Given the description of an element on the screen output the (x, y) to click on. 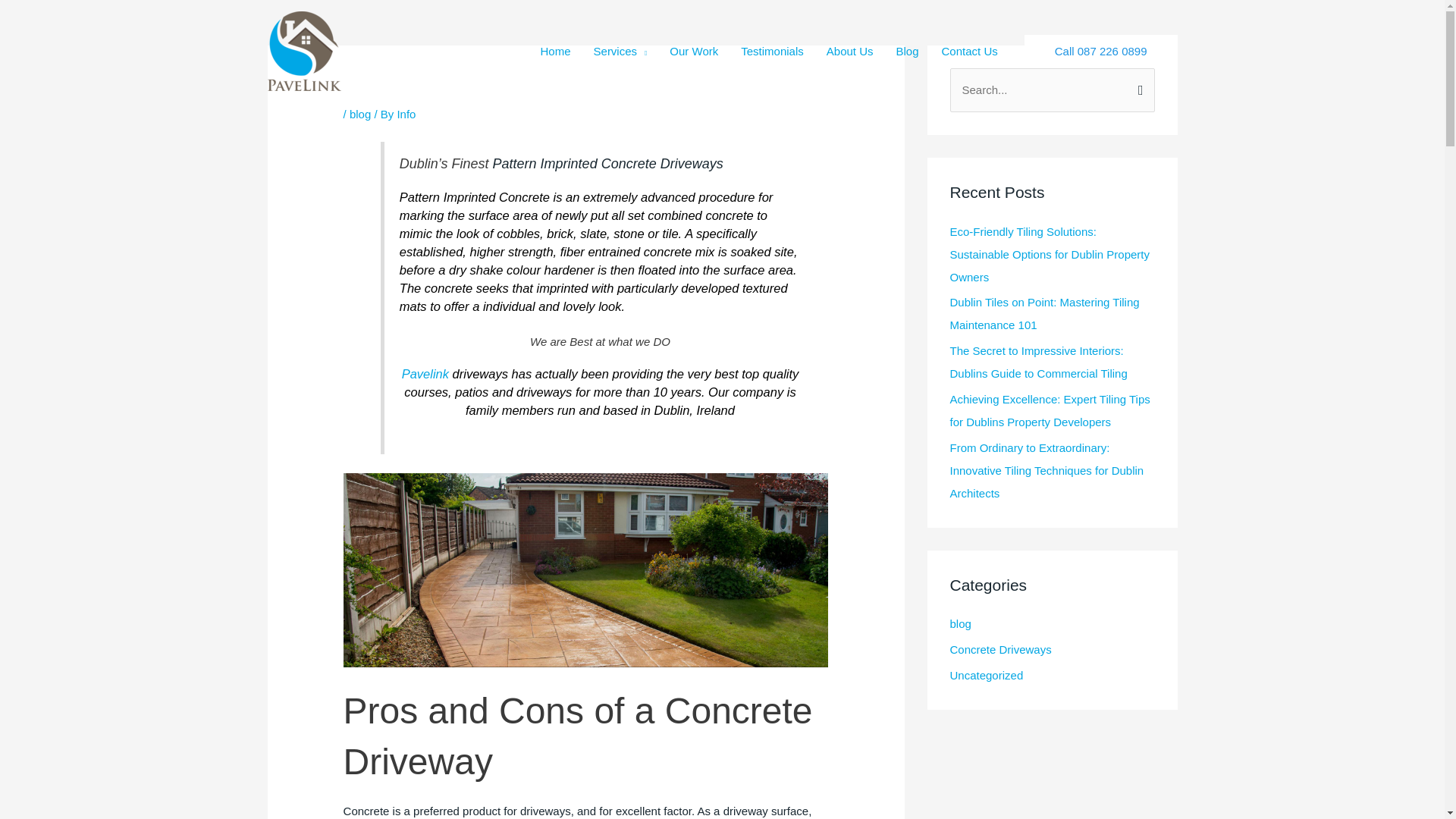
Pattern Imprinted Concrete Driveways (608, 163)
Pavelink (424, 373)
Home (555, 50)
Services (620, 50)
Our Work (693, 50)
blog (360, 113)
Contact Us (969, 50)
Testimonials (772, 50)
View all posts by Info (405, 113)
About Us (850, 50)
